Given the description of an element on the screen output the (x, y) to click on. 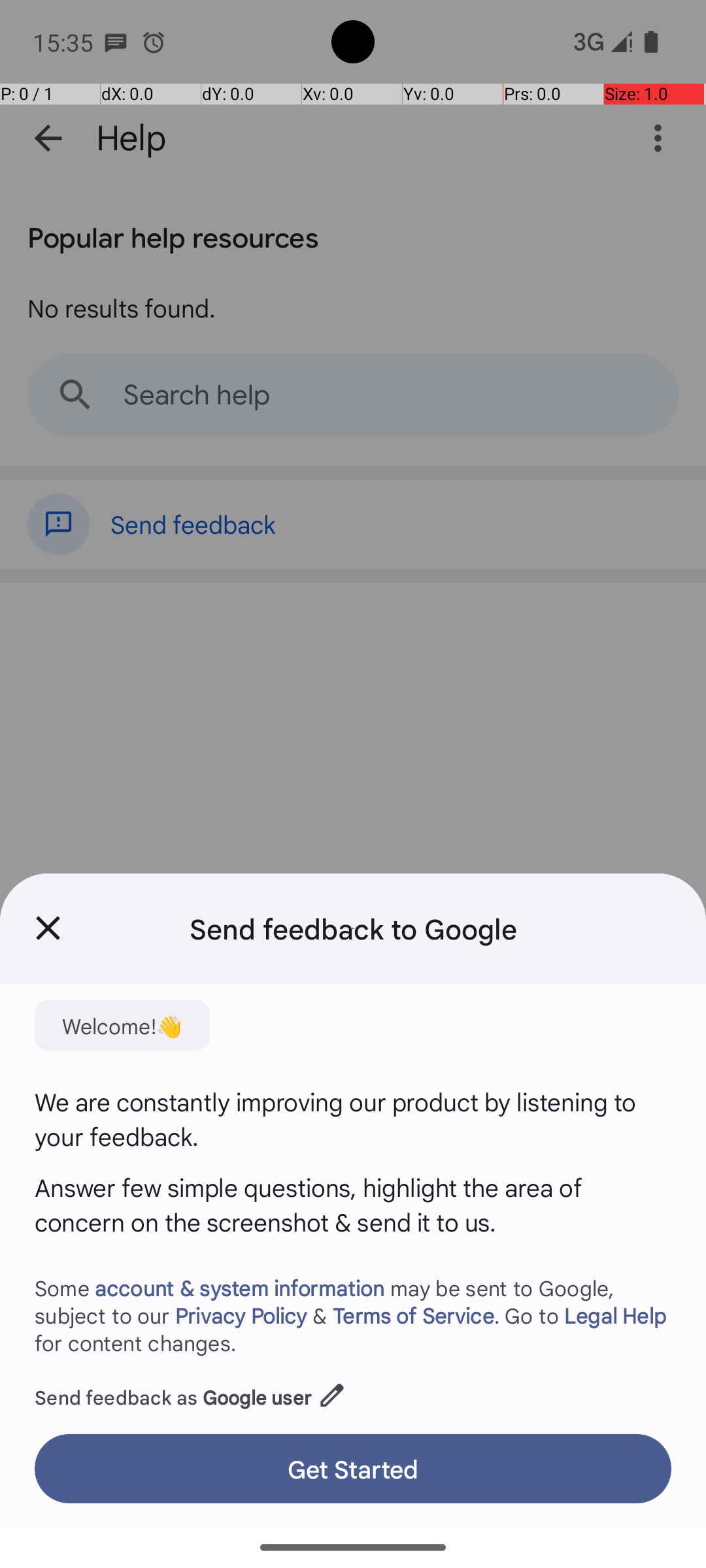
Send feedback to Google Element type: android.view.ViewGroup (353, 928)
Welcome!👋 Element type: android.widget.TextView (121, 1025)
We are constantly improving our product by listening to your feedback. Element type: android.widget.TextView (352, 1118)
Answer few simple questions, highlight the area of concern on the screenshot & send it to us. Element type: android.widget.TextView (352, 1204)
Some account & system information may be sent to Google, subject to our Privacy Policy & Terms of Service. Go to Legal Help for content changes. Element type: android.widget.TextView (352, 1314)
Send feedback as Google user   Element type: android.widget.TextView (190, 1391)
Get Started Element type: android.widget.Button (352, 1468)
Close Feedback Element type: android.widget.ImageButton (48, 928)
